Given the description of an element on the screen output the (x, y) to click on. 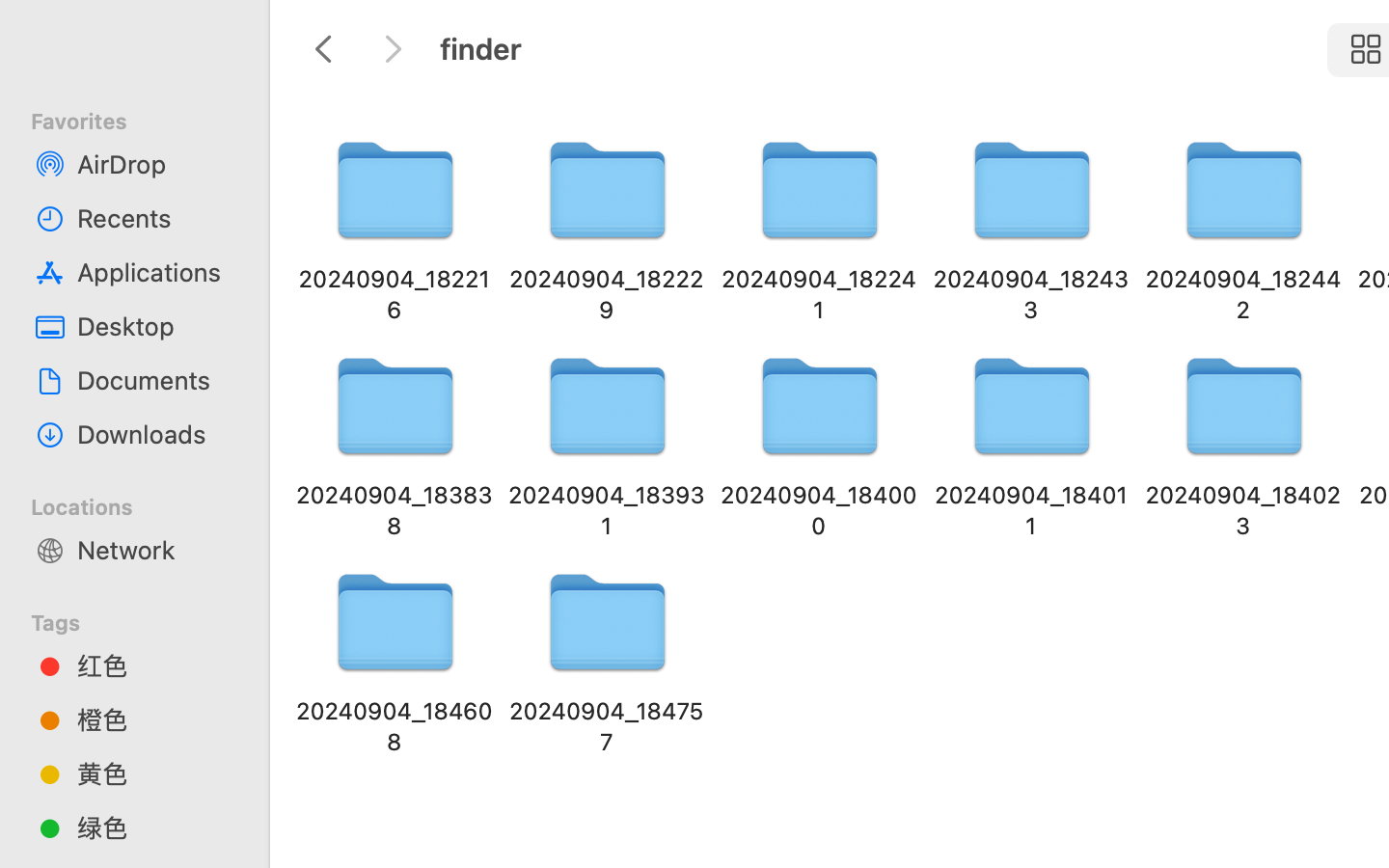
AirDrop Element type: AXStaticText (155, 163)
Desktop Element type: AXStaticText (155, 325)
Recents Element type: AXStaticText (155, 217)
Downloads Element type: AXStaticText (155, 433)
